Given the description of an element on the screen output the (x, y) to click on. 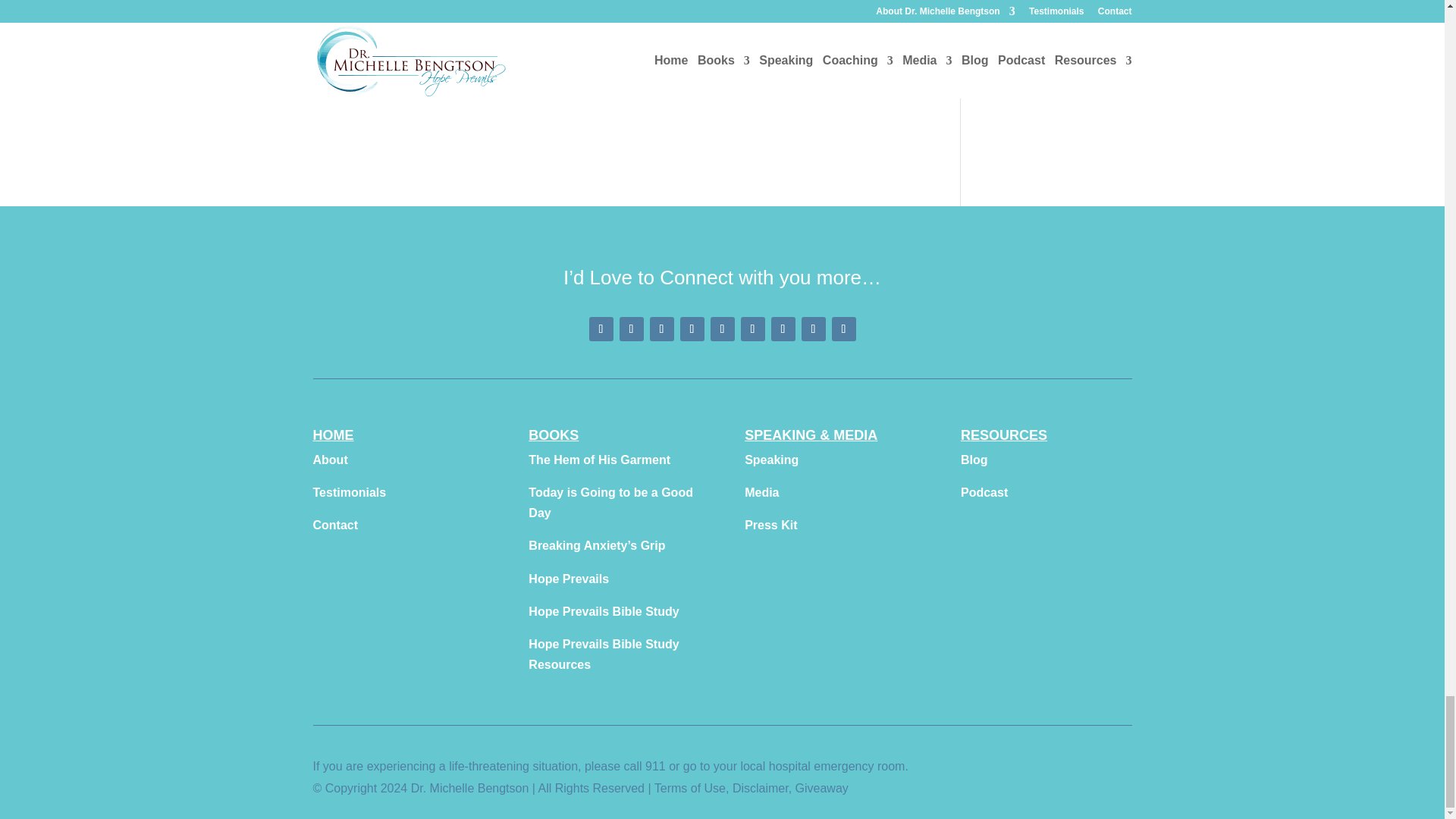
Follow on Instagram (660, 328)
Comment Form (614, 39)
Follow on Podcast (782, 328)
Follow on Facebook (600, 328)
Follow on Youtube (691, 328)
Follow on Pinterest (630, 328)
Follow on BookBub (843, 328)
Follow on Twitter (721, 328)
Follow on Amazon (812, 328)
Follow on LinkedIn (751, 328)
